Given the description of an element on the screen output the (x, y) to click on. 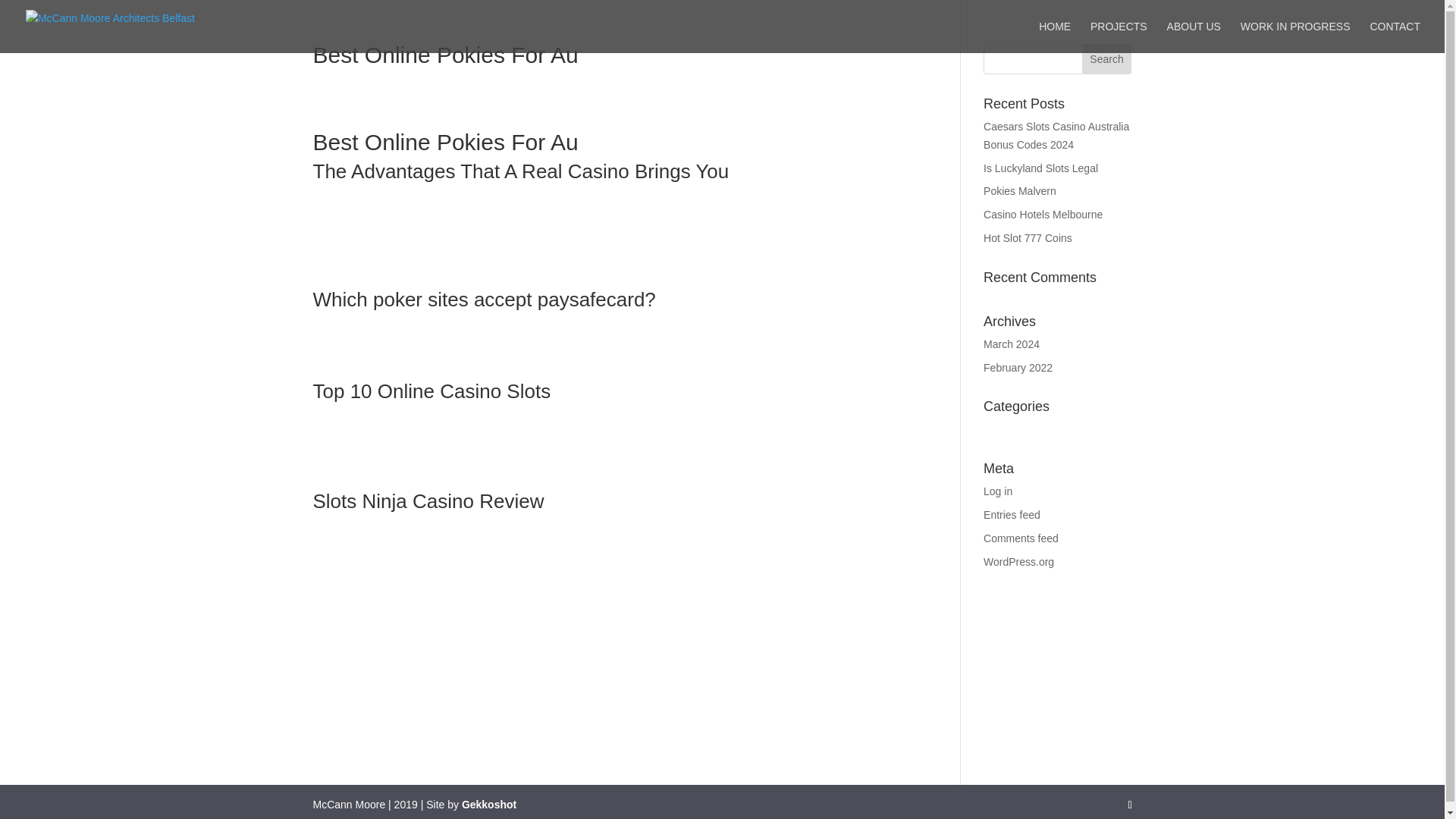
Gekkoshot (488, 804)
Hot Slot 777 Coins (1027, 237)
CONTACT (1395, 37)
WordPress.org (1019, 562)
February 2022 (1018, 367)
Is Luckyland Slots Legal (1040, 168)
Caesars Slots Casino Australia Bonus Codes 2024 (1056, 135)
March 2024 (1011, 344)
ABOUT US (1194, 37)
Pokies Malvern (1020, 191)
Entries feed (1012, 514)
Comments feed (1021, 538)
PROJECTS (1118, 37)
HOME (1054, 37)
Search (1106, 59)
